Given the description of an element on the screen output the (x, y) to click on. 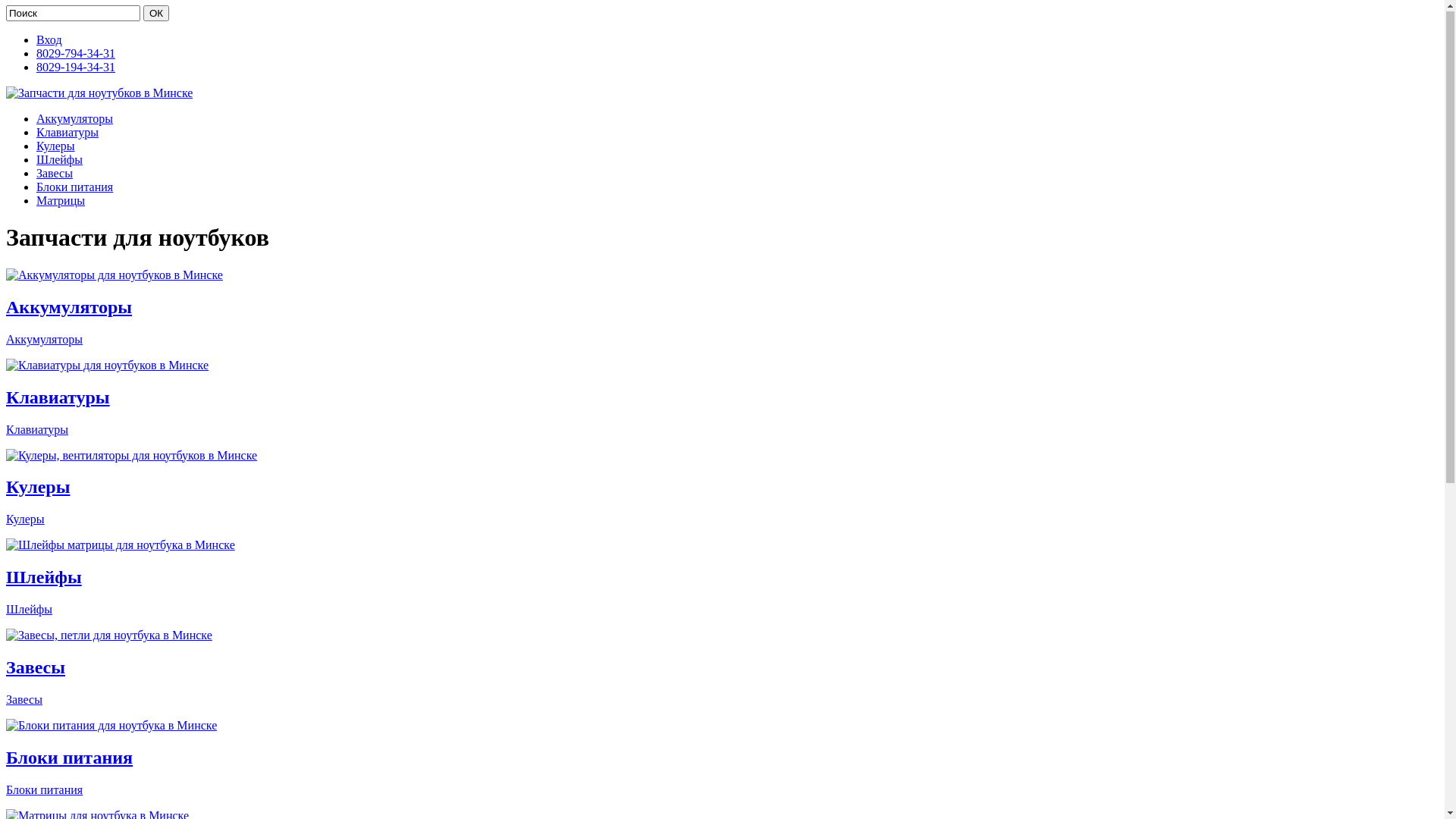
8029-794-34-31 Element type: text (75, 53)
8029-194-34-31 Element type: text (75, 67)
